Given the description of an element on the screen output the (x, y) to click on. 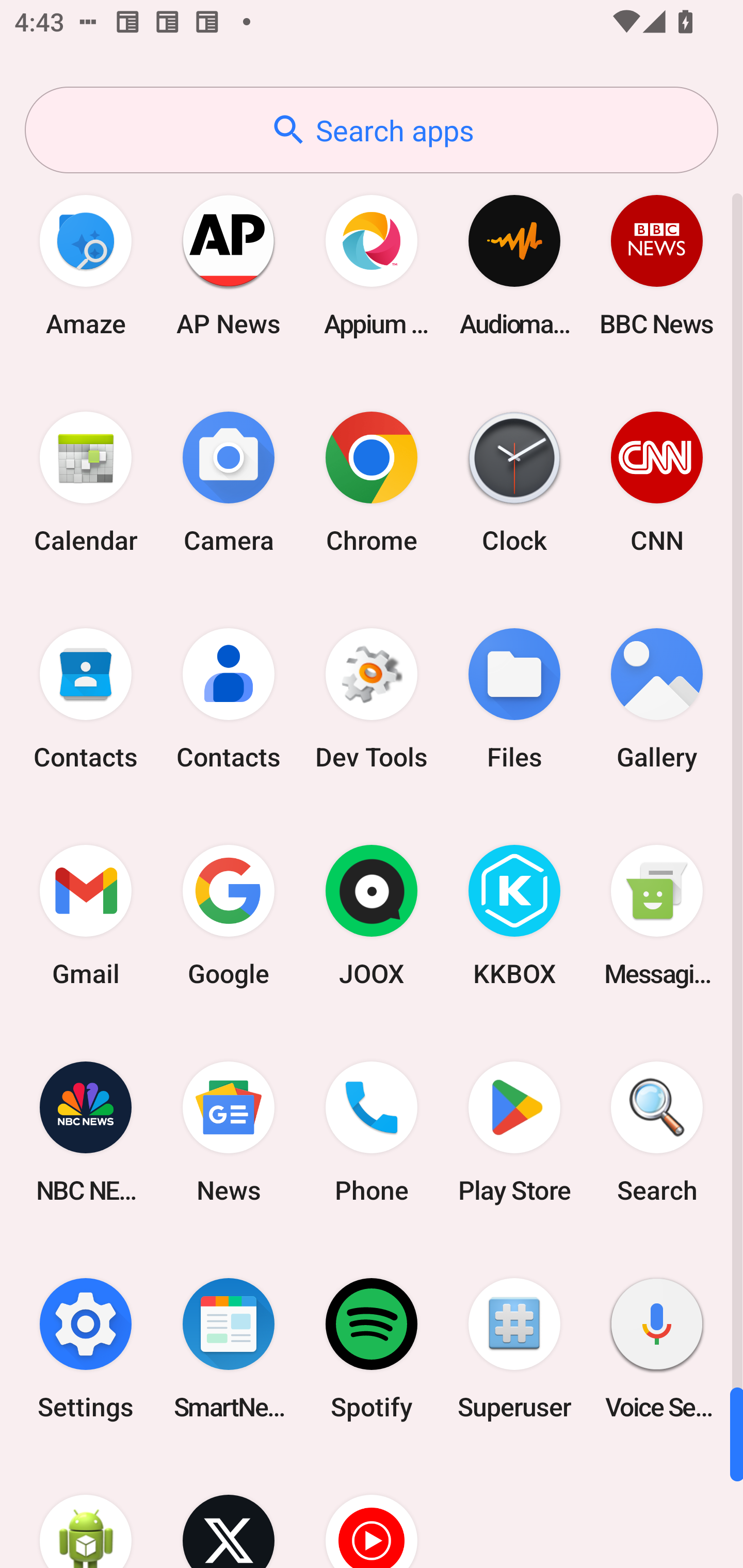
  Search apps (371, 130)
Amaze (85, 264)
AP News (228, 264)
Appium Settings (371, 264)
Audio­mack (514, 264)
BBC News (656, 264)
Calendar (85, 482)
Camera (228, 482)
Chrome (371, 482)
Clock (514, 482)
CNN (656, 482)
Contacts (85, 699)
Contacts (228, 699)
Dev Tools (371, 699)
Files (514, 699)
Gallery (656, 699)
Gmail (85, 915)
Google (228, 915)
JOOX (371, 915)
KKBOX (514, 915)
Messaging (656, 915)
NBC NEWS (85, 1131)
News (228, 1131)
Phone (371, 1131)
Play Store (514, 1131)
Search (656, 1131)
Settings (85, 1348)
SmartNews (228, 1348)
Spotify (371, 1348)
Superuser (514, 1348)
Voice Search (656, 1348)
WebView Browser Tester (85, 1512)
X (228, 1512)
YT Music (371, 1512)
